Given the description of an element on the screen output the (x, y) to click on. 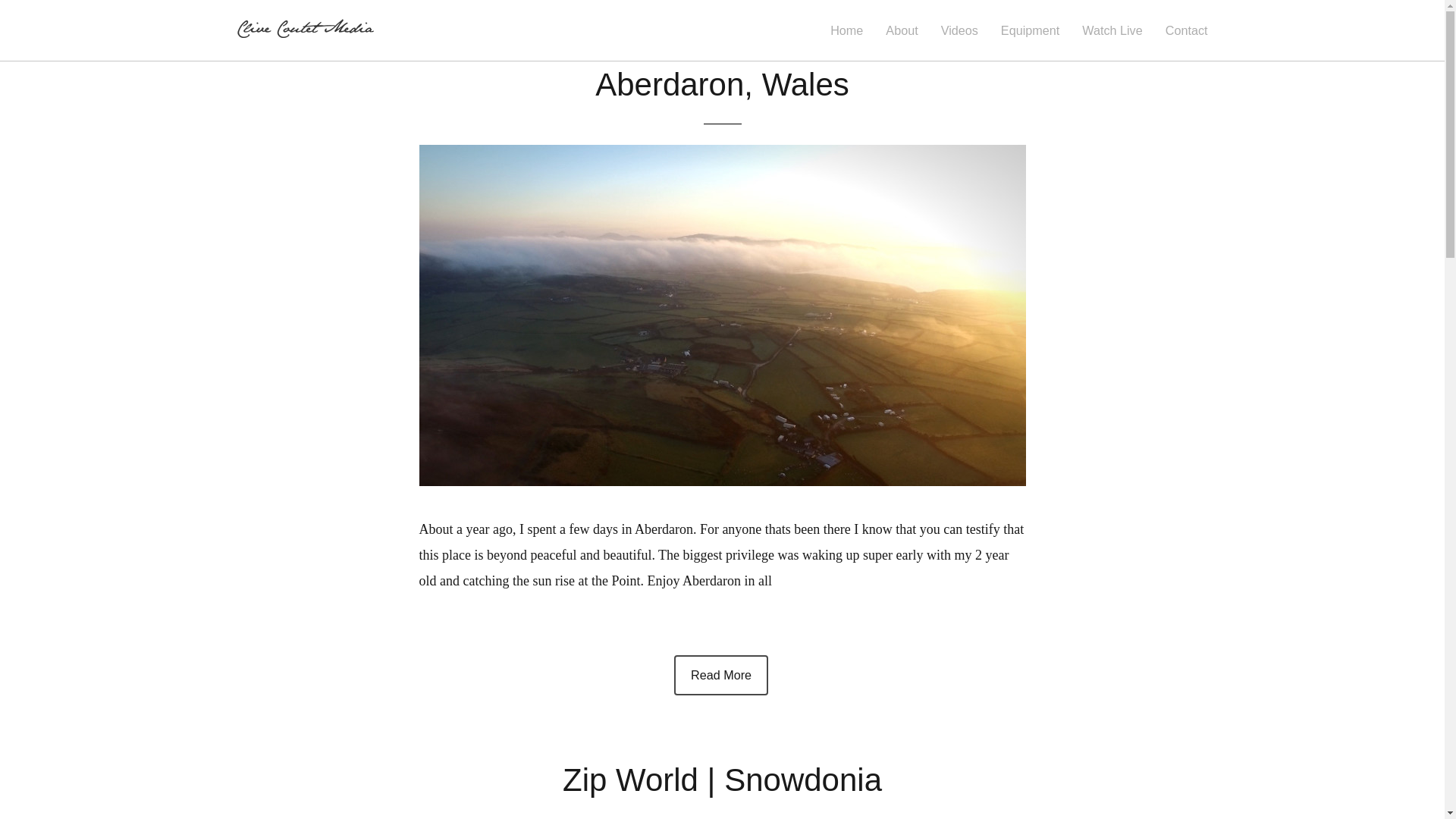
Watch Live (1111, 30)
Equipment (1030, 30)
Contact (1187, 30)
Videos (959, 30)
Read More (721, 675)
Aberdaron, Wales (721, 675)
Aberdaron, Wales (721, 84)
About (901, 30)
Home (846, 30)
